Given the description of an element on the screen output the (x, y) to click on. 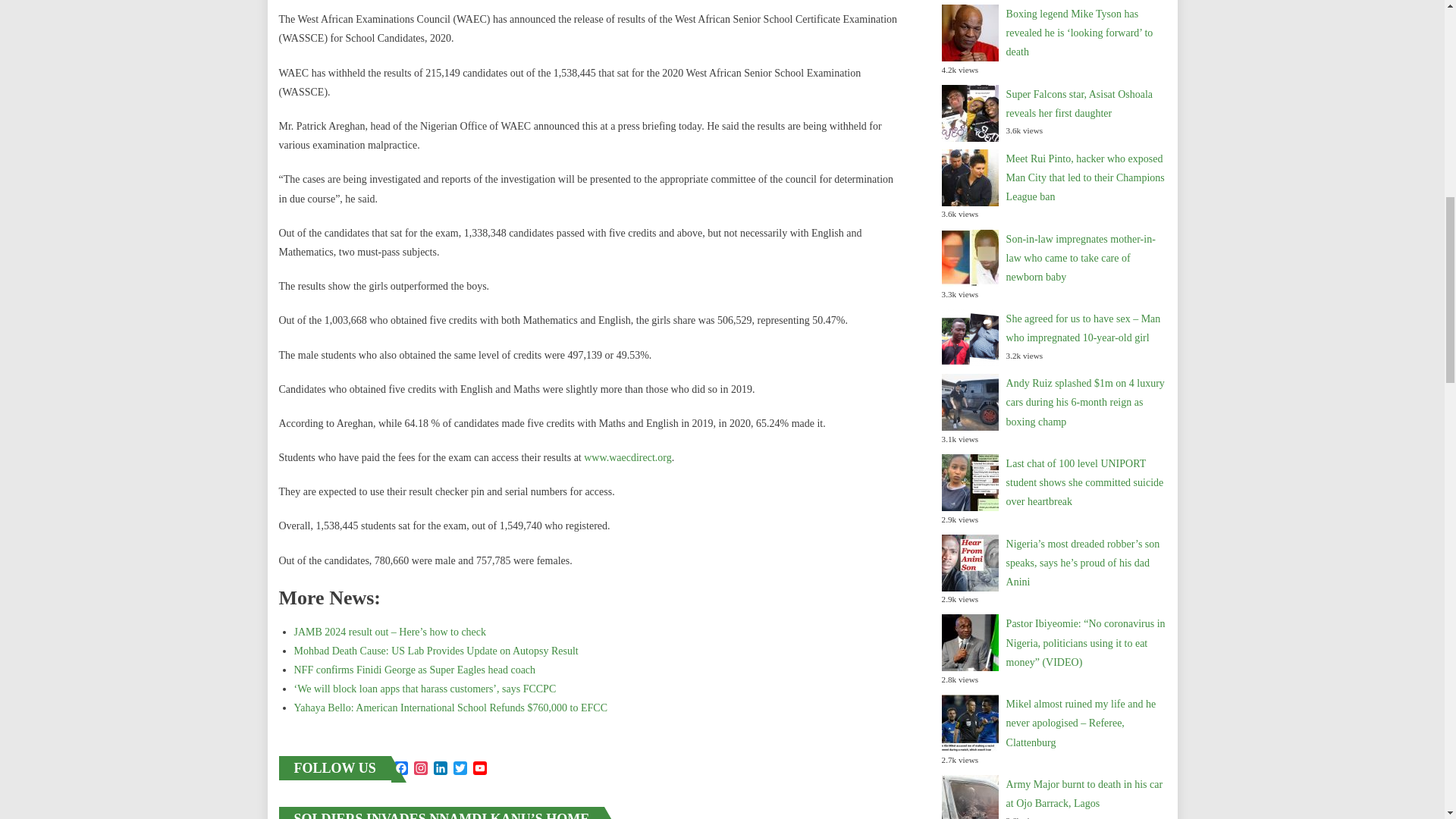
Twitter (459, 769)
LinkedIn (439, 769)
YouTube Channel (479, 769)
Instagram (420, 769)
Facebook (400, 769)
